Given the description of an element on the screen output the (x, y) to click on. 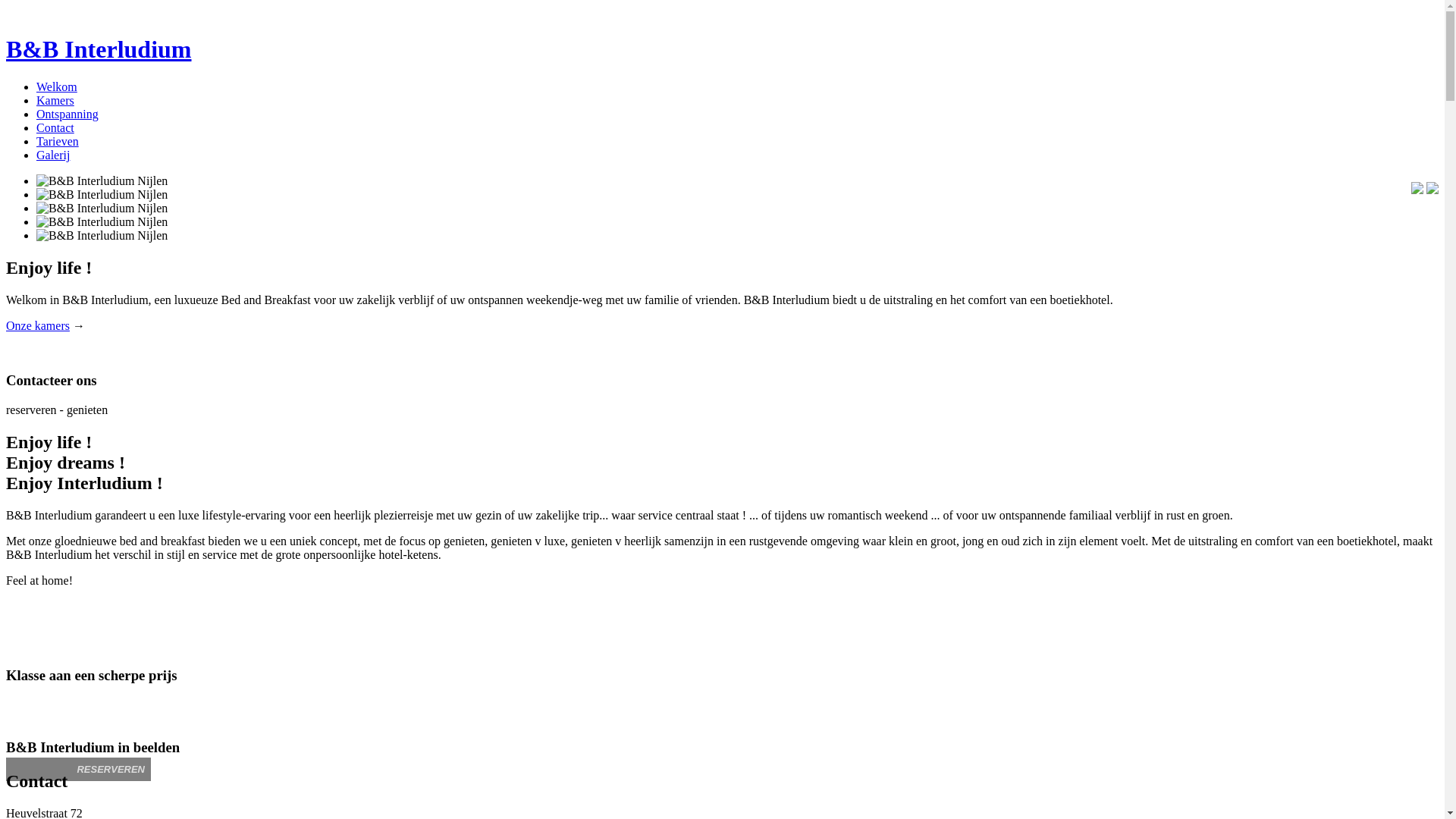
Contact Element type: text (55, 127)
Kamers Element type: text (55, 100)
Tarieven Element type: text (57, 140)
Galerij Element type: text (52, 154)
Onze kamers Element type: text (37, 325)
Welkom Element type: text (56, 86)
Ontspanning Element type: text (67, 113)
B&B Interludium Element type: text (98, 48)
